Given the description of an element on the screen output the (x, y) to click on. 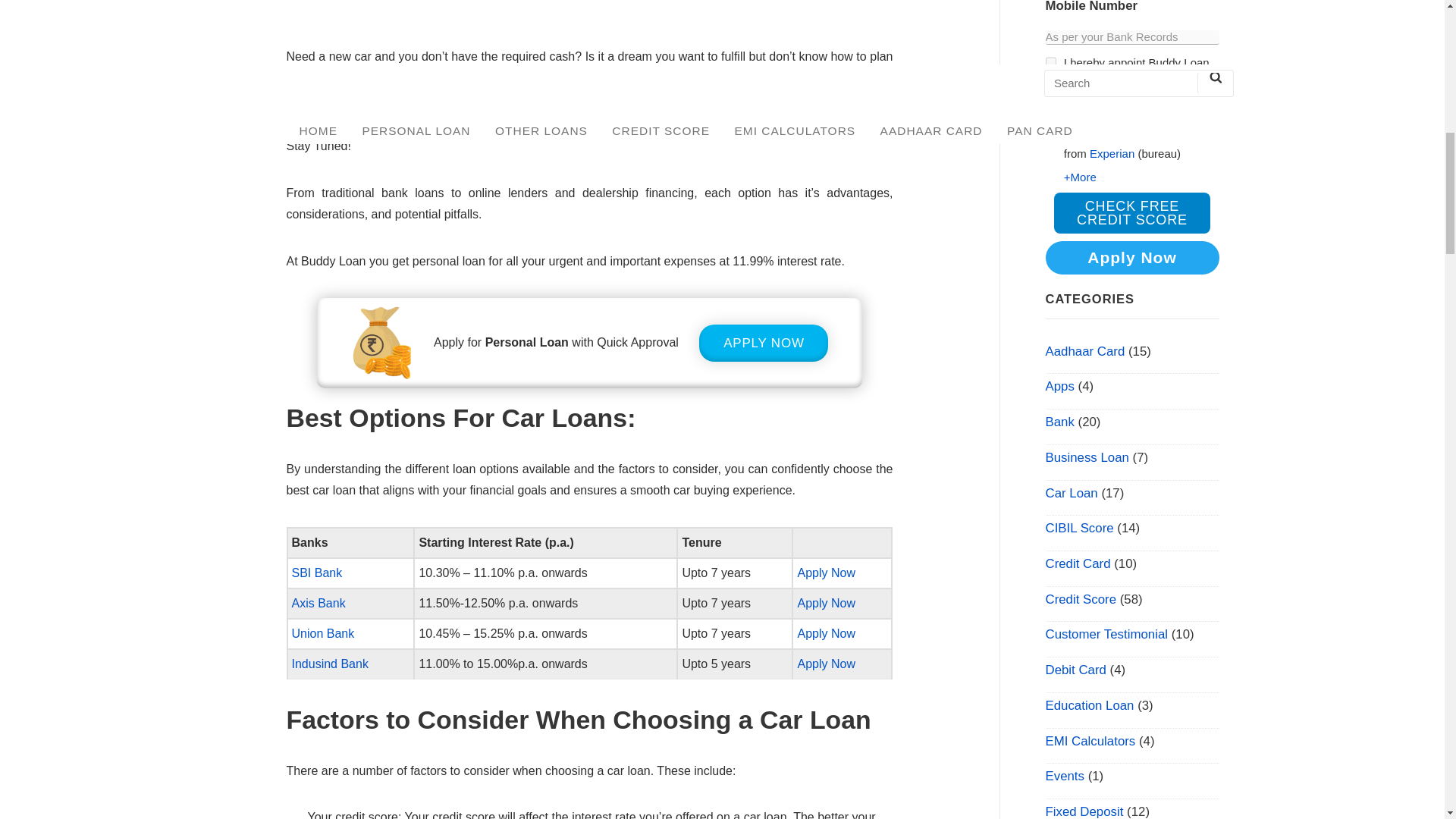
APPLY NOW (763, 342)
Apply Now (825, 633)
Union Bank (322, 633)
Apply Now (825, 663)
Axis Bank (318, 603)
Best Car Loan Option (589, 10)
Apply Now (825, 603)
Indusind Bank (329, 663)
bar (1050, 61)
SBI Bank  (318, 572)
Apply Now (825, 572)
